Given the description of an element on the screen output the (x, y) to click on. 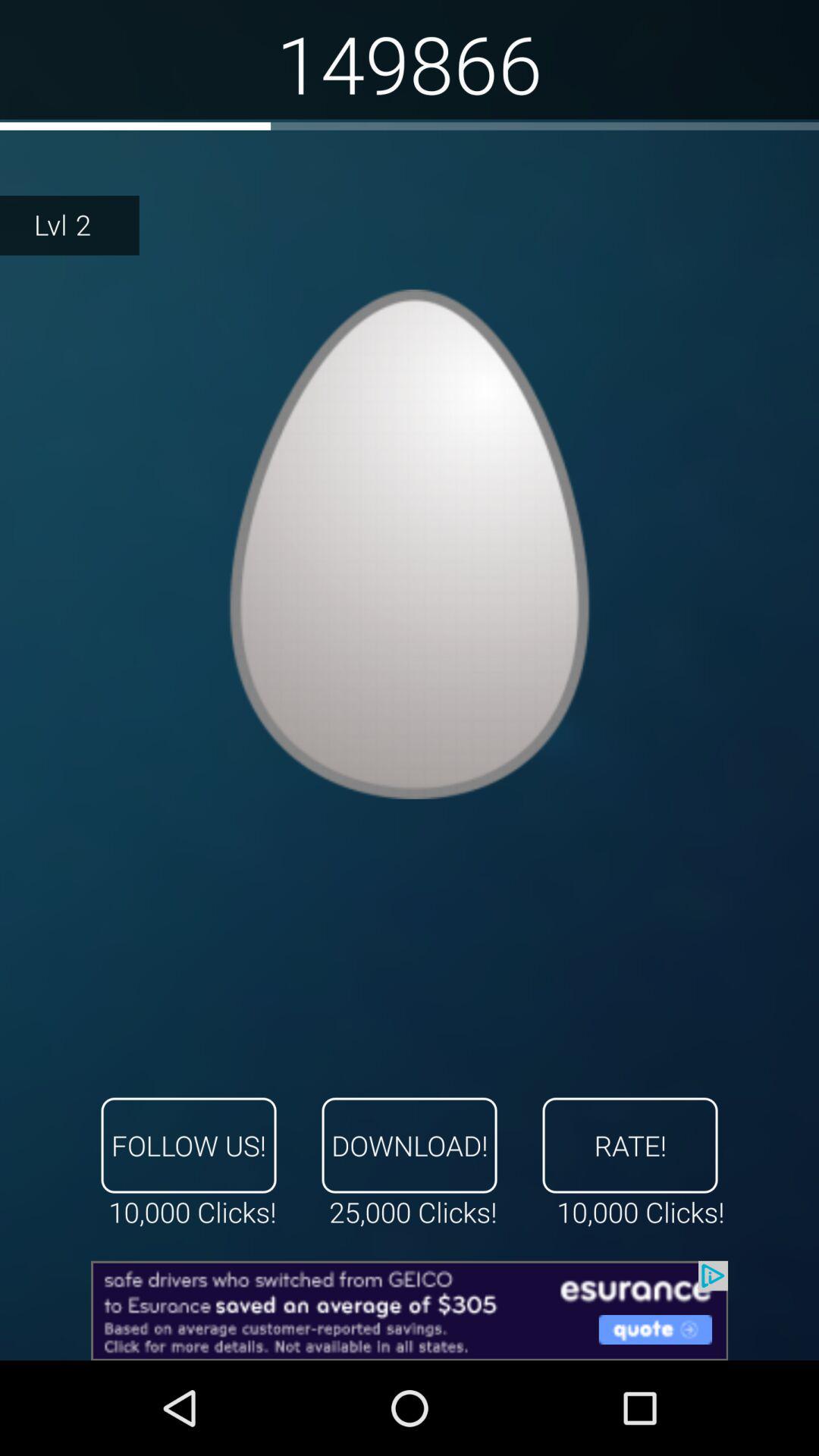
screen page (409, 544)
